Given the description of an element on the screen output the (x, y) to click on. 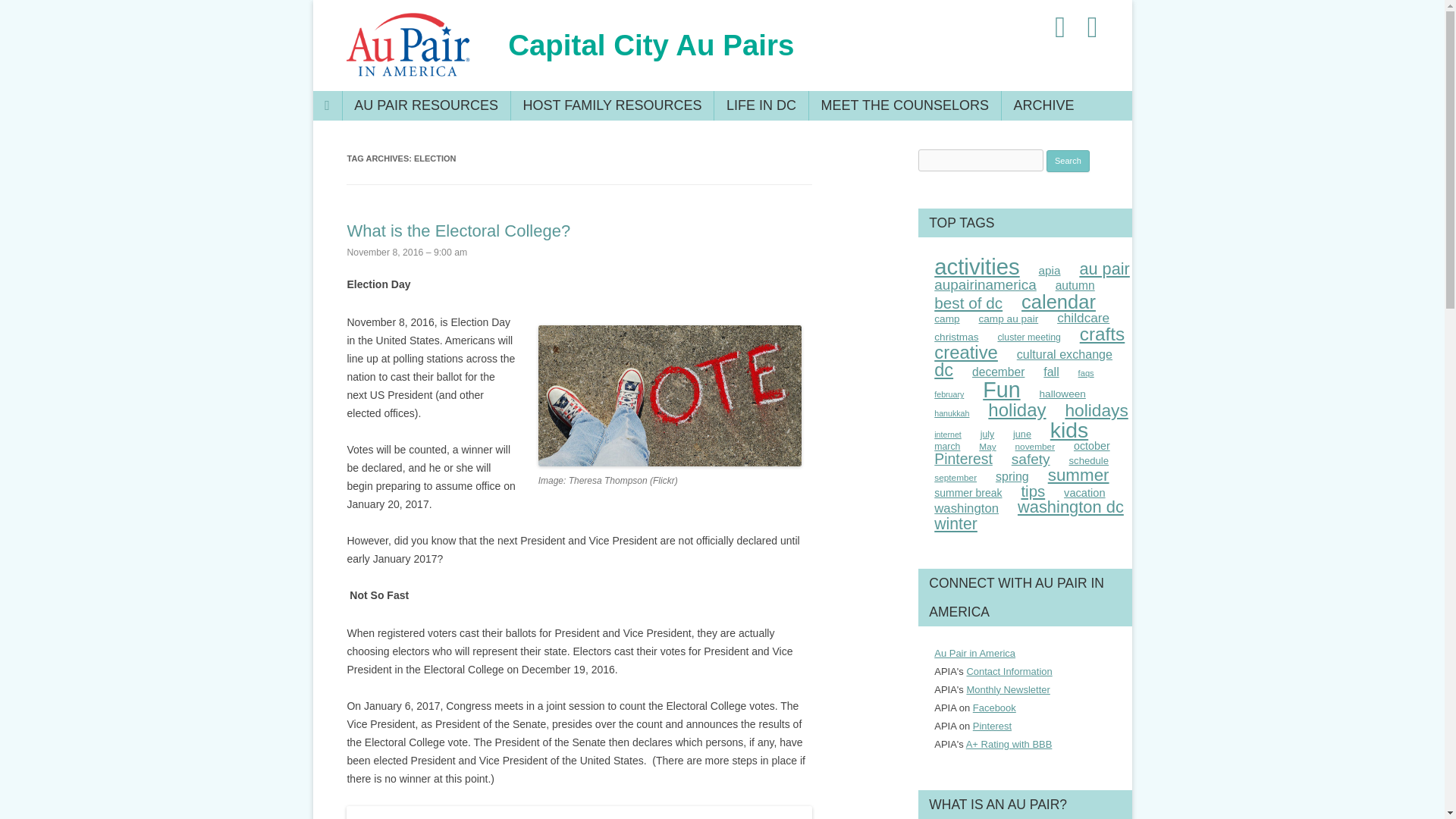
Capital City Au Pairs (650, 45)
Capital City Au Pairs (650, 45)
AU PAIR RESOURCES (426, 105)
ARCHIVE (1043, 105)
APIA Monthly Corporate Newsletter (1007, 689)
HOST FAMILY RESOURCES (612, 105)
Au Pair in America Corporate Page (994, 707)
MEET THE COUNSELORS (904, 105)
What is the Electoral College? (458, 230)
LIFE IN DC (760, 105)
Search (1067, 160)
Pinterest APIA Kids Site (991, 726)
